Given the description of an element on the screen output the (x, y) to click on. 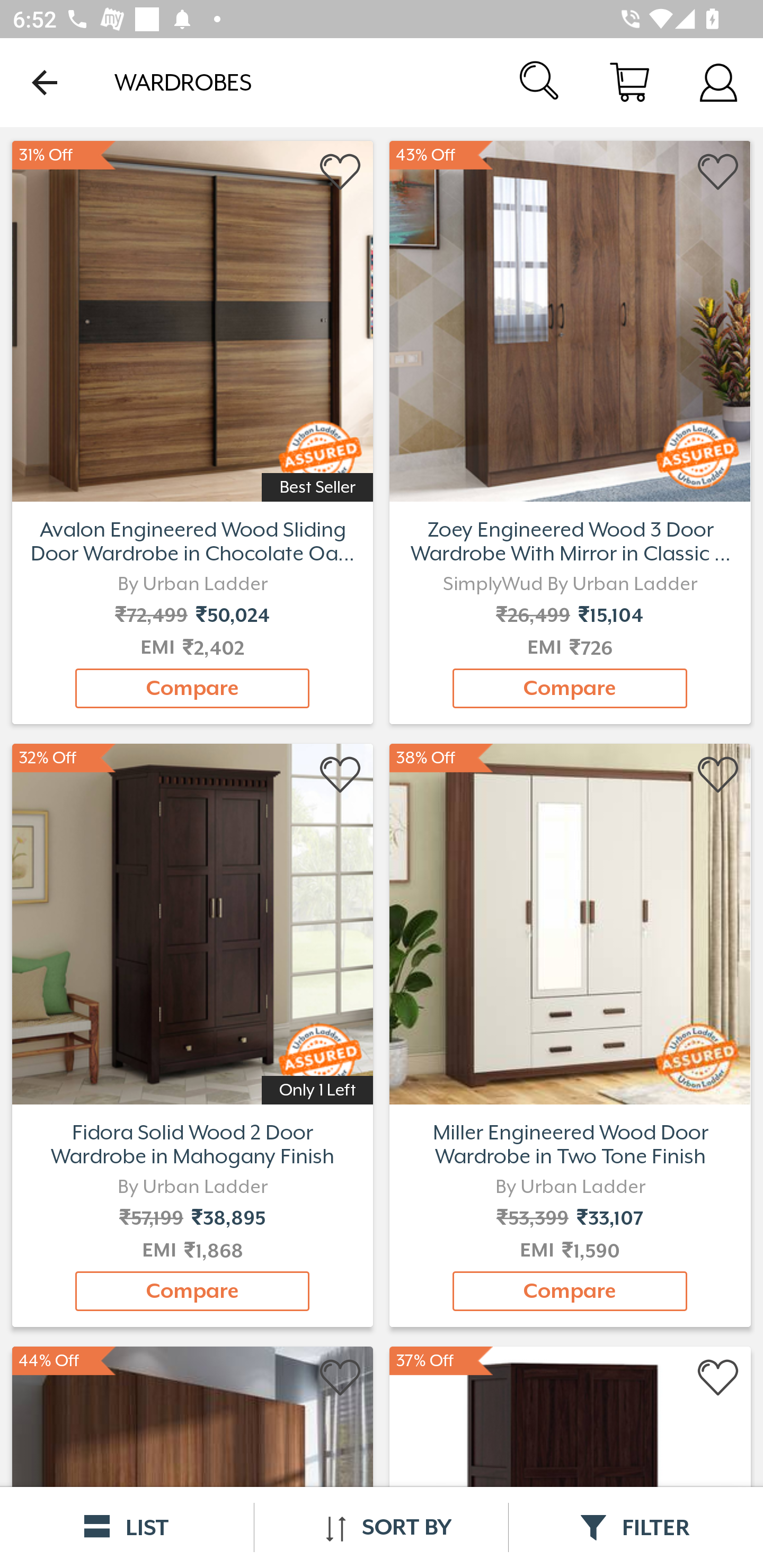
Navigate up (44, 82)
Search (540, 81)
Cart (629, 81)
Account Details (718, 81)
 (341, 172)
 (718, 172)
Compare (192, 687)
Compare (569, 687)
 (341, 775)
 (718, 775)
Compare (192, 1290)
Compare (569, 1290)
 (341, 1377)
 (718, 1377)
 LIST (127, 1527)
SORT BY (381, 1527)
 FILTER (635, 1527)
